Given the description of an element on the screen output the (x, y) to click on. 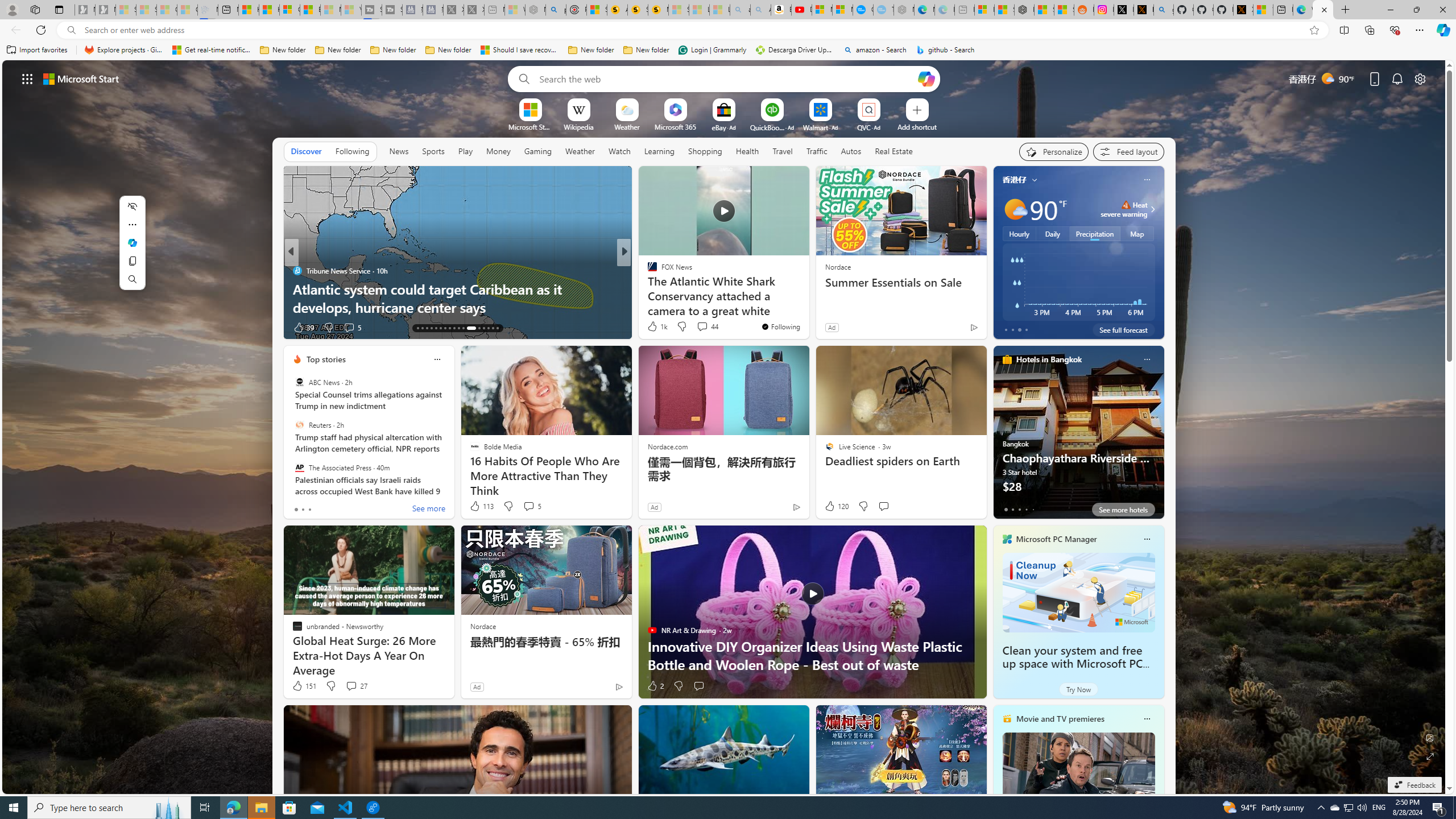
See more hotels (1123, 509)
tab-3 (1025, 509)
Top stories (325, 359)
Log in to X / X (1123, 9)
120 Like (835, 505)
Add a site (916, 126)
View comments 27 Comment (355, 685)
Extraordinary Gift Idea for Birthday & Christmas (807, 307)
3 PM 4 PM 5 PM 6 PM (1077, 282)
